Given the description of an element on the screen output the (x, y) to click on. 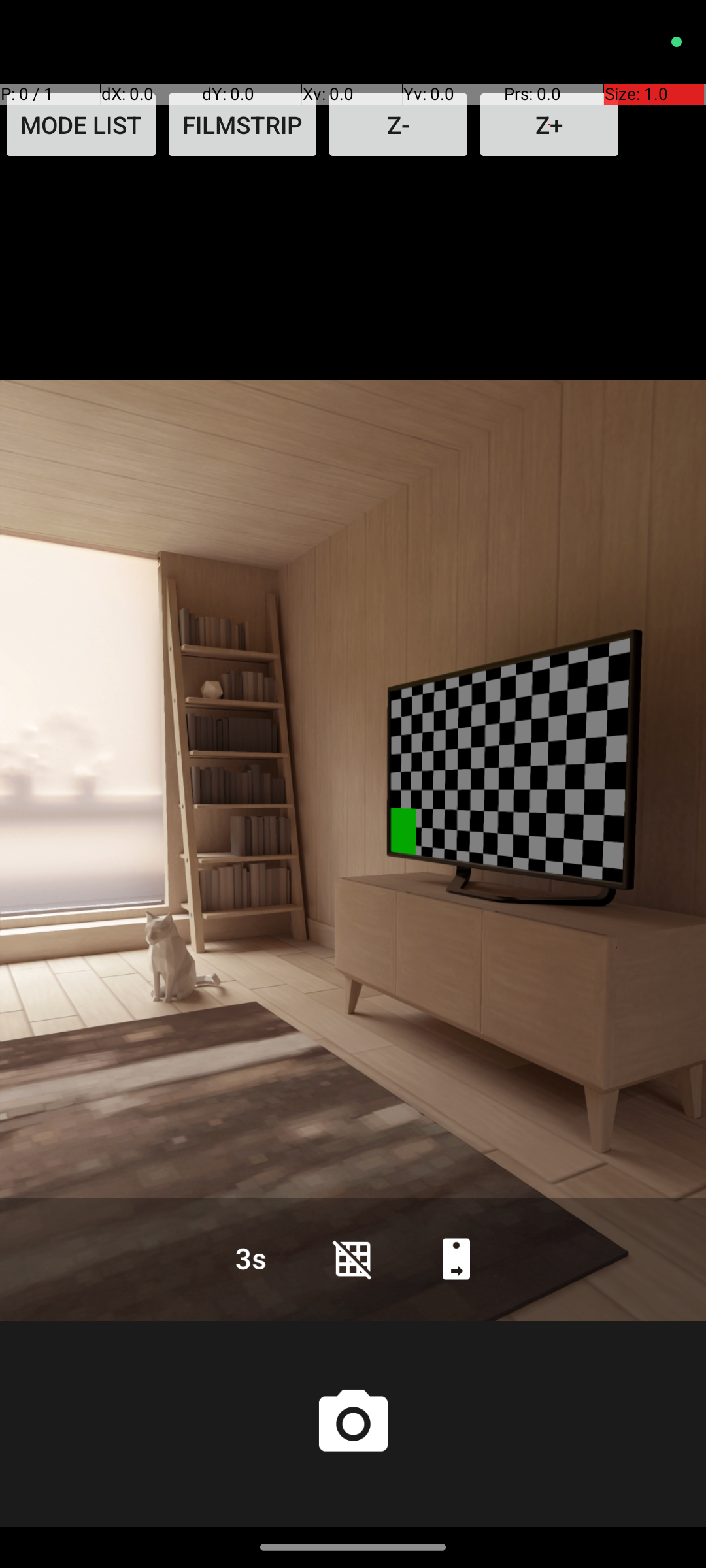
Countdown timer duration is set to 3 seconds Element type: android.widget.ImageButton (249, 1258)
Grid lines off Element type: android.widget.ImageButton (352, 1258)
Back camera Element type: android.widget.ImageButton (456, 1258)
